Given the description of an element on the screen output the (x, y) to click on. 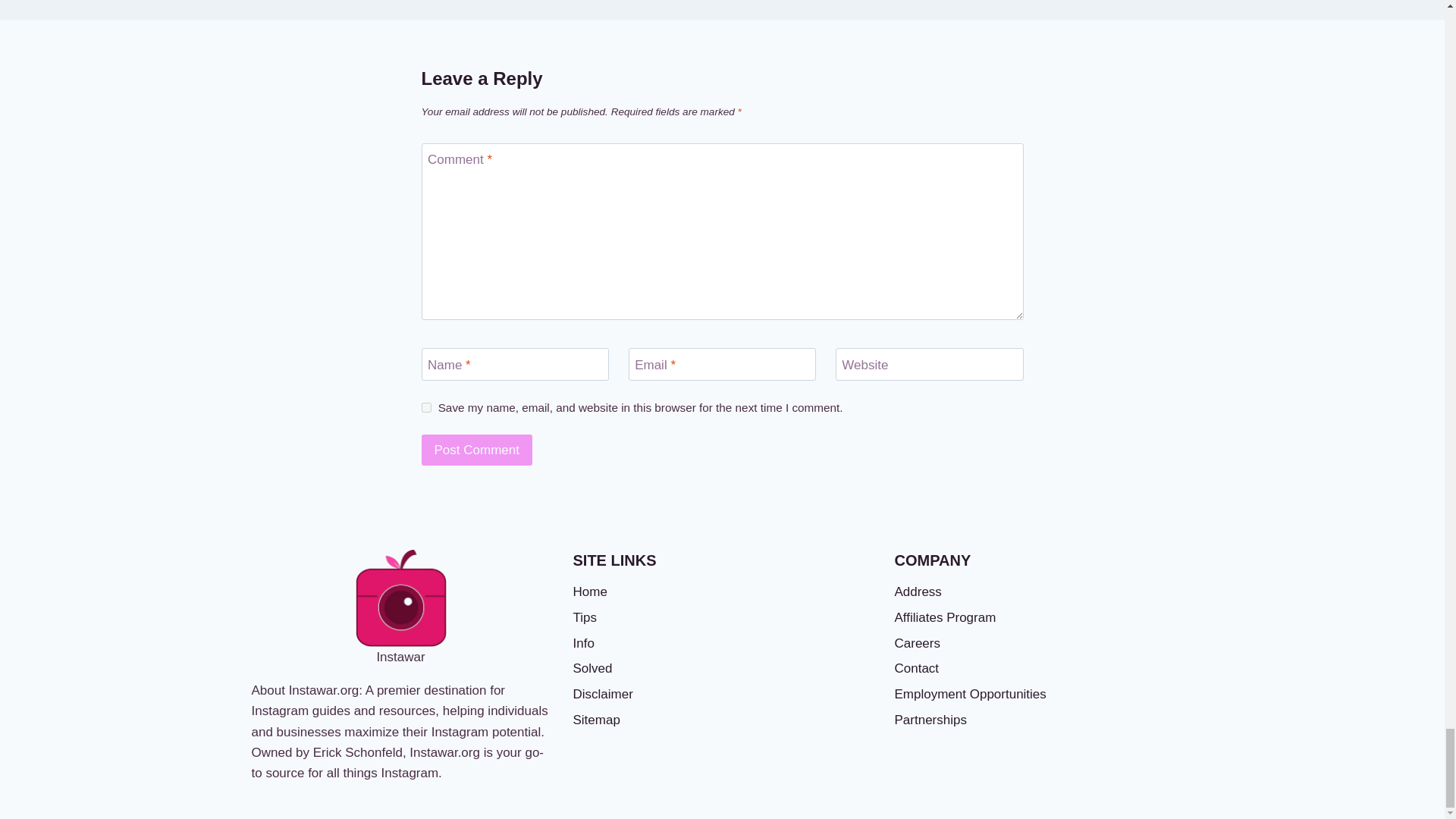
Post Comment (477, 450)
yes (426, 407)
